Given the description of an element on the screen output the (x, y) to click on. 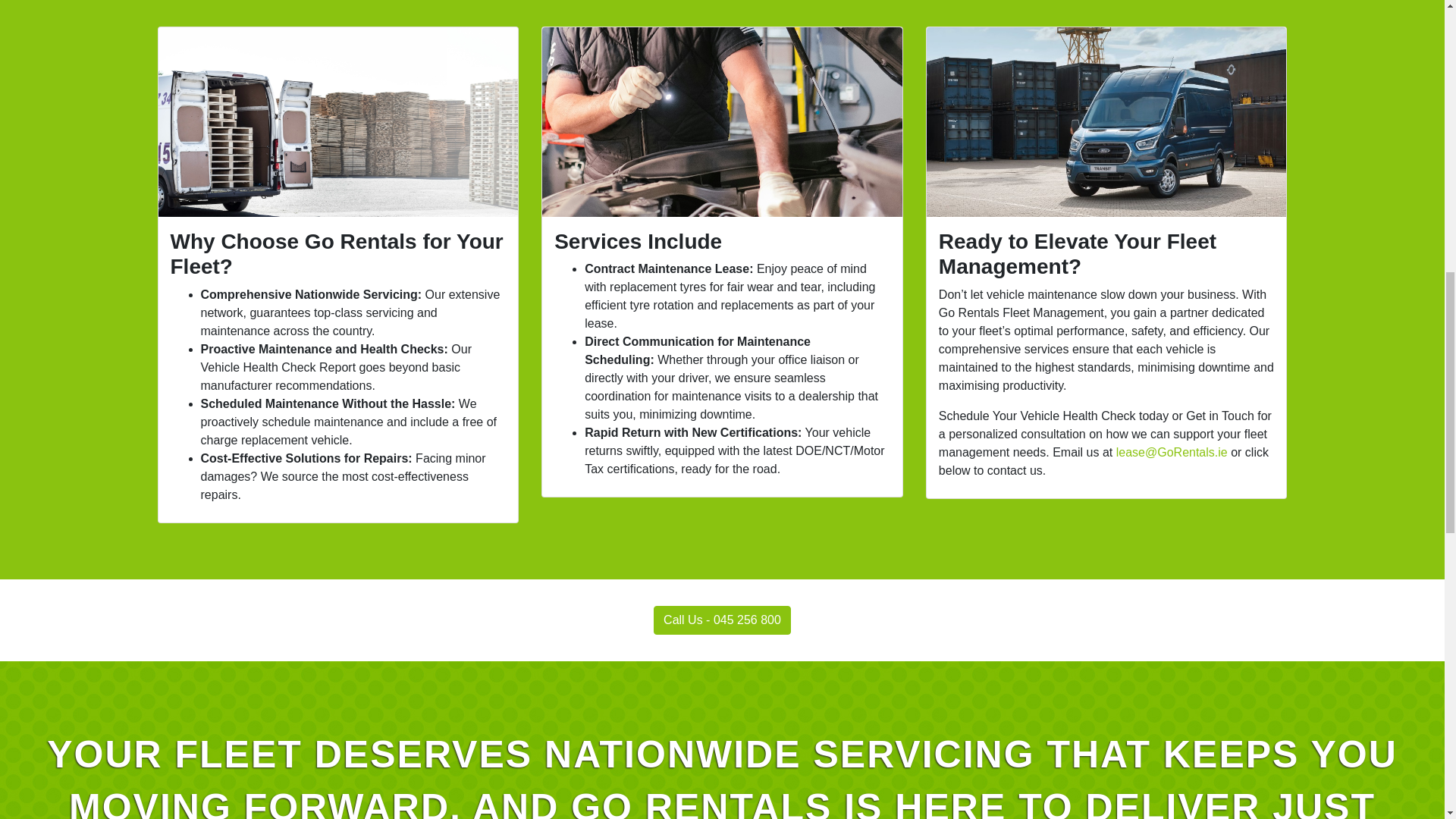
Call Us - 045 256 800 (721, 620)
